Given the description of an element on the screen output the (x, y) to click on. 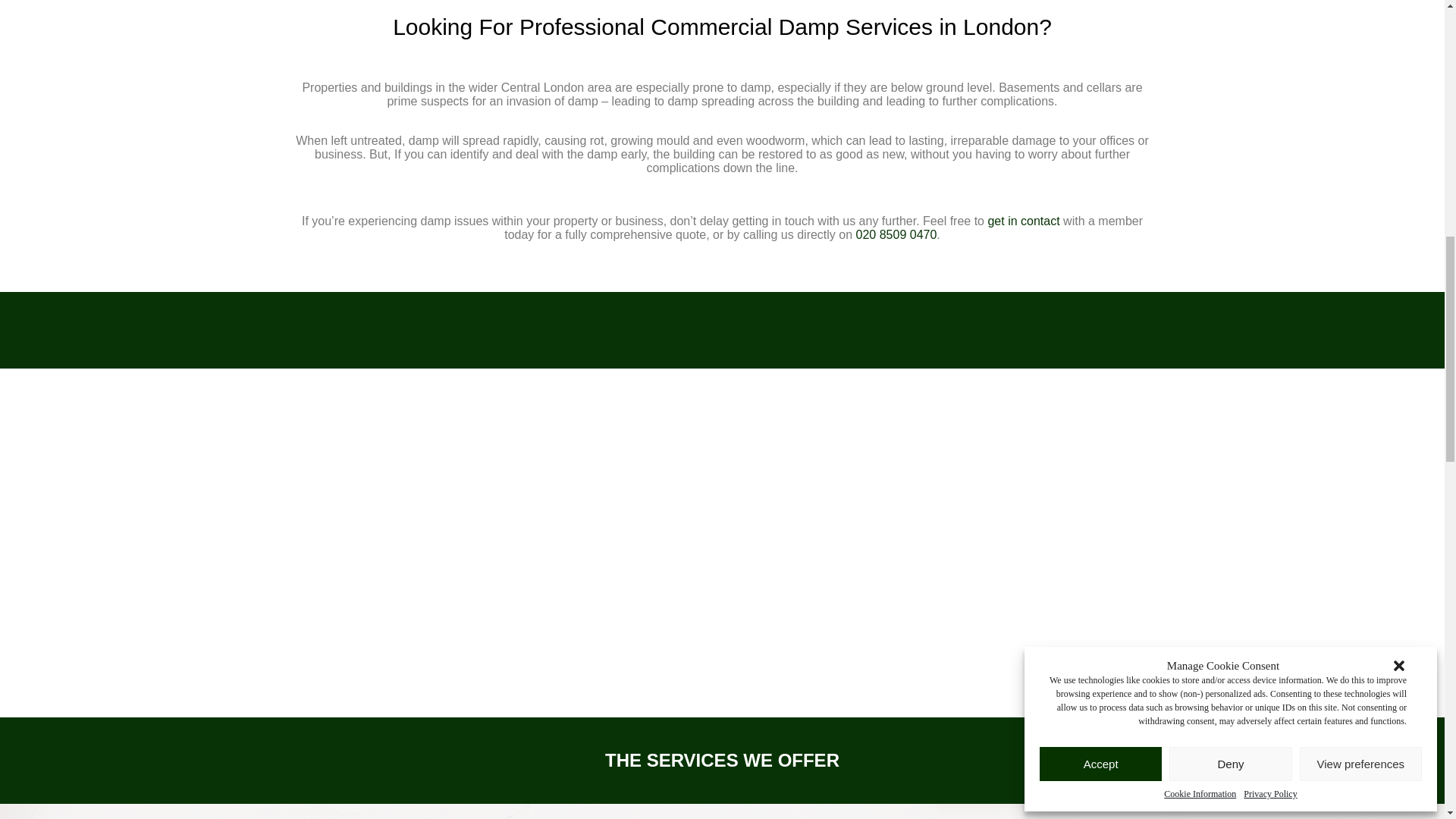
020 8509 0470 (896, 234)
get in contact (1023, 220)
